Given the description of an element on the screen output the (x, y) to click on. 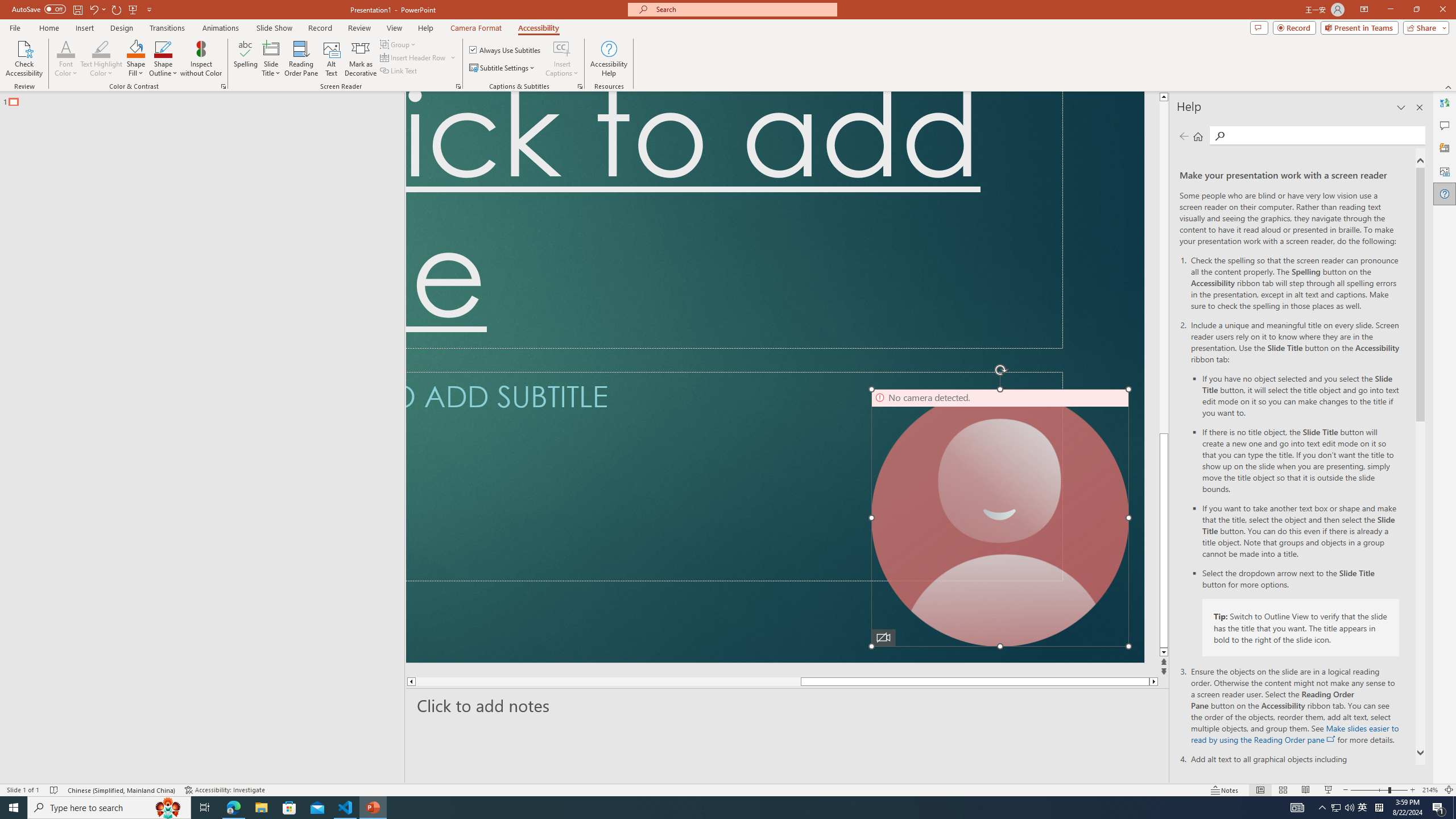
Class: NetUIScrollBar (728, 757)
Google Chrome (729, 800)
Class: Static (596, 411)
Focus  (1175, 773)
Decrease Text Size (1313, 773)
Class: Image (1277, 800)
